Given the description of an element on the screen output the (x, y) to click on. 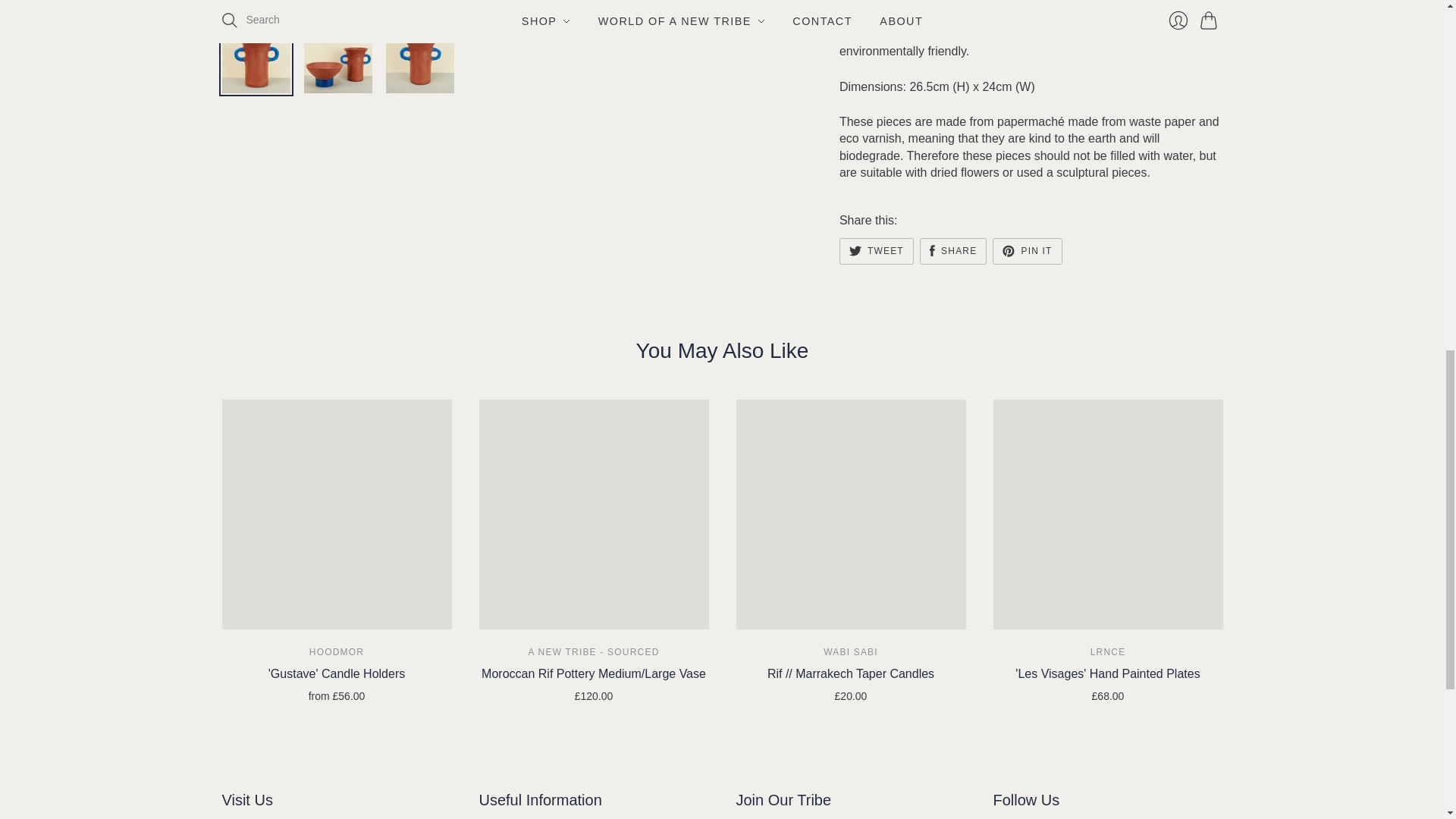
HoodMor (336, 652)
LRNCE (1107, 652)
A New Tribe - Sourced (593, 652)
Wabi Sabi (850, 652)
